Given the description of an element on the screen output the (x, y) to click on. 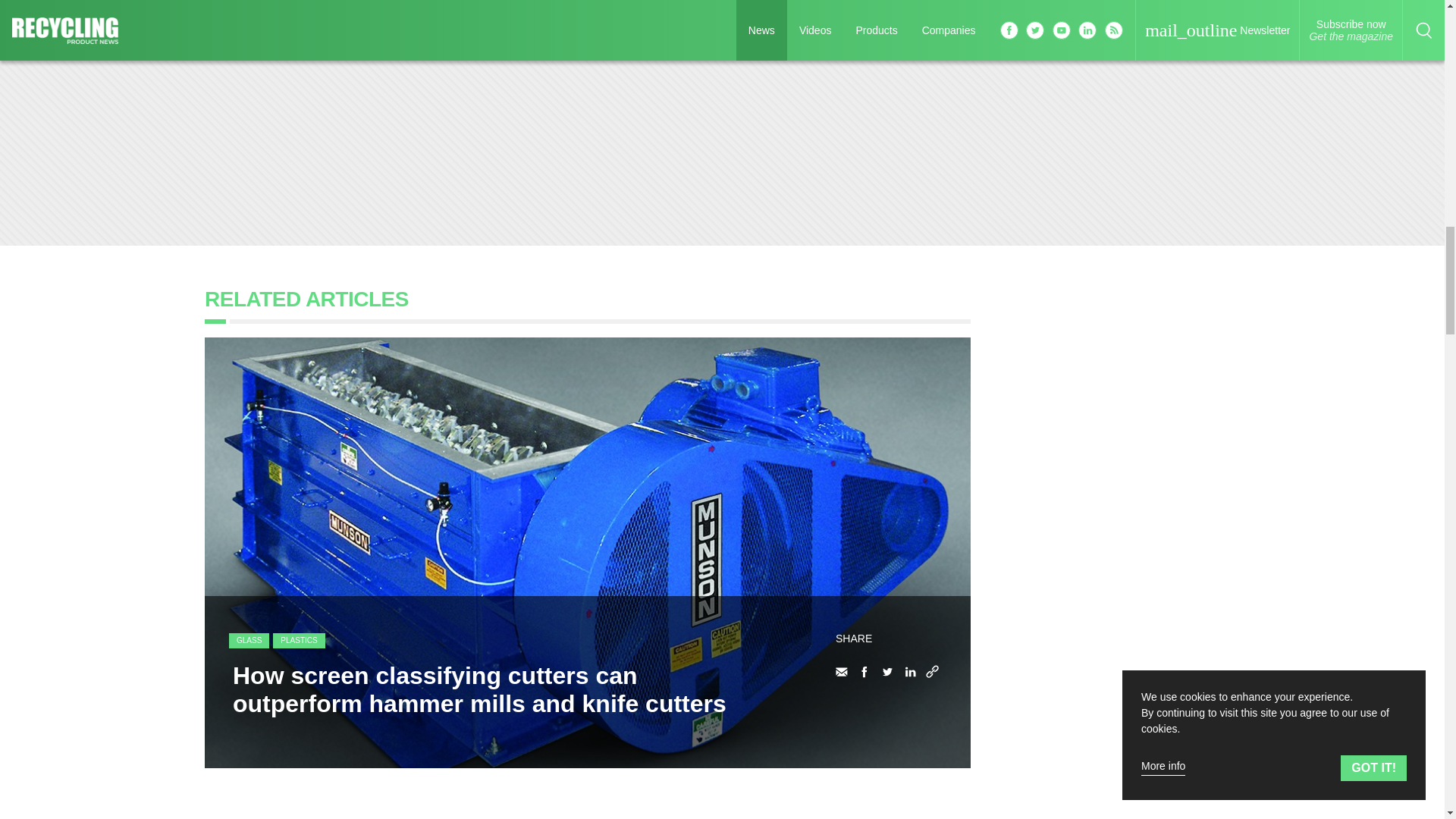
GLASS (248, 640)
3rd party ad content (1125, 801)
PLASTICS (298, 640)
